Given the description of an element on the screen output the (x, y) to click on. 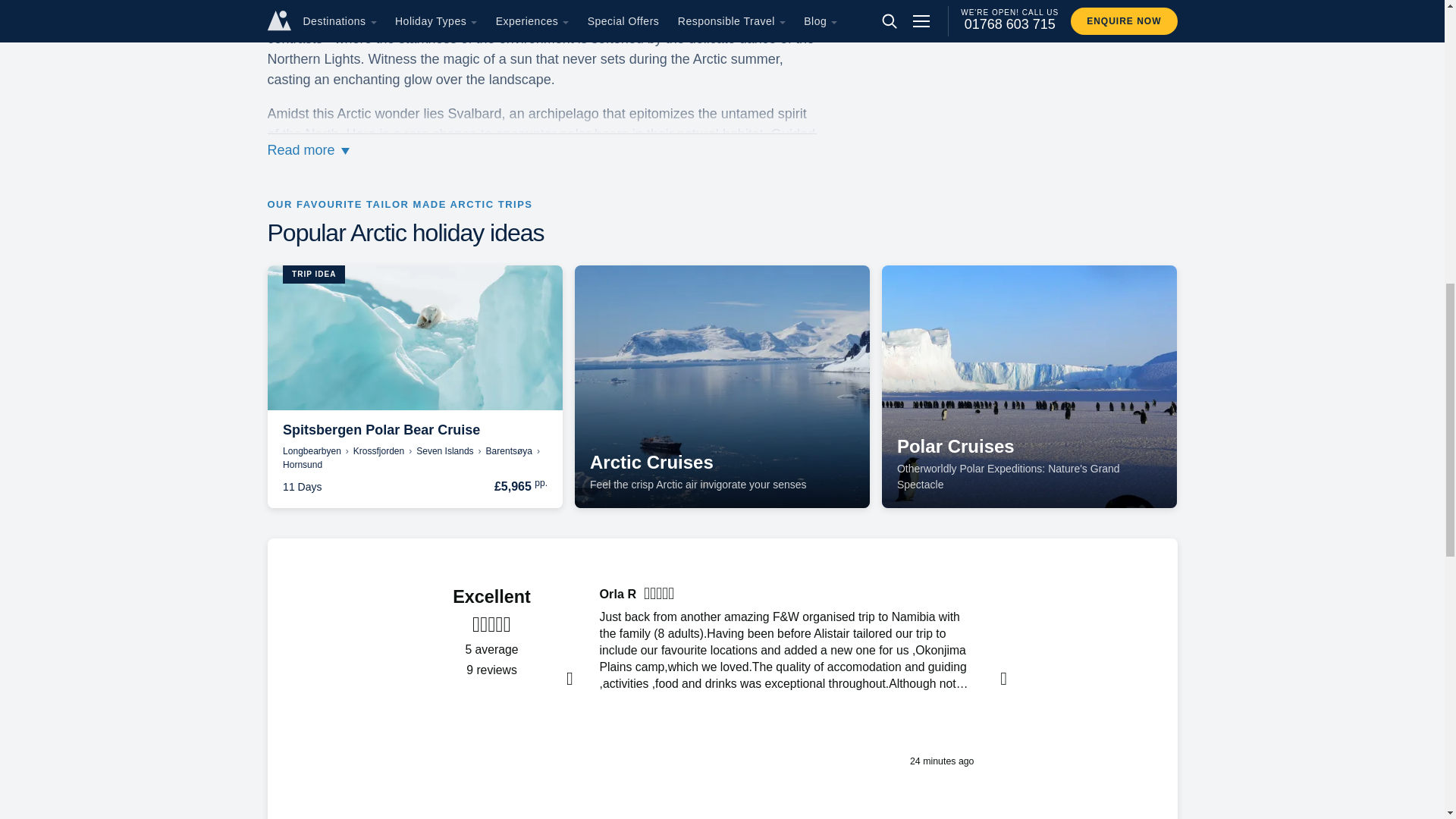
5 Stars (660, 595)
5.00 Stars (491, 624)
Ortelius expedition vessel Arctic Polar (722, 386)
Emperor Penguins Antarctica (1029, 386)
Read more reviews on REVIEWS.io (491, 727)
Polar bear arctic cruises (414, 337)
5 Stars (1069, 595)
